Given the description of an element on the screen output the (x, y) to click on. 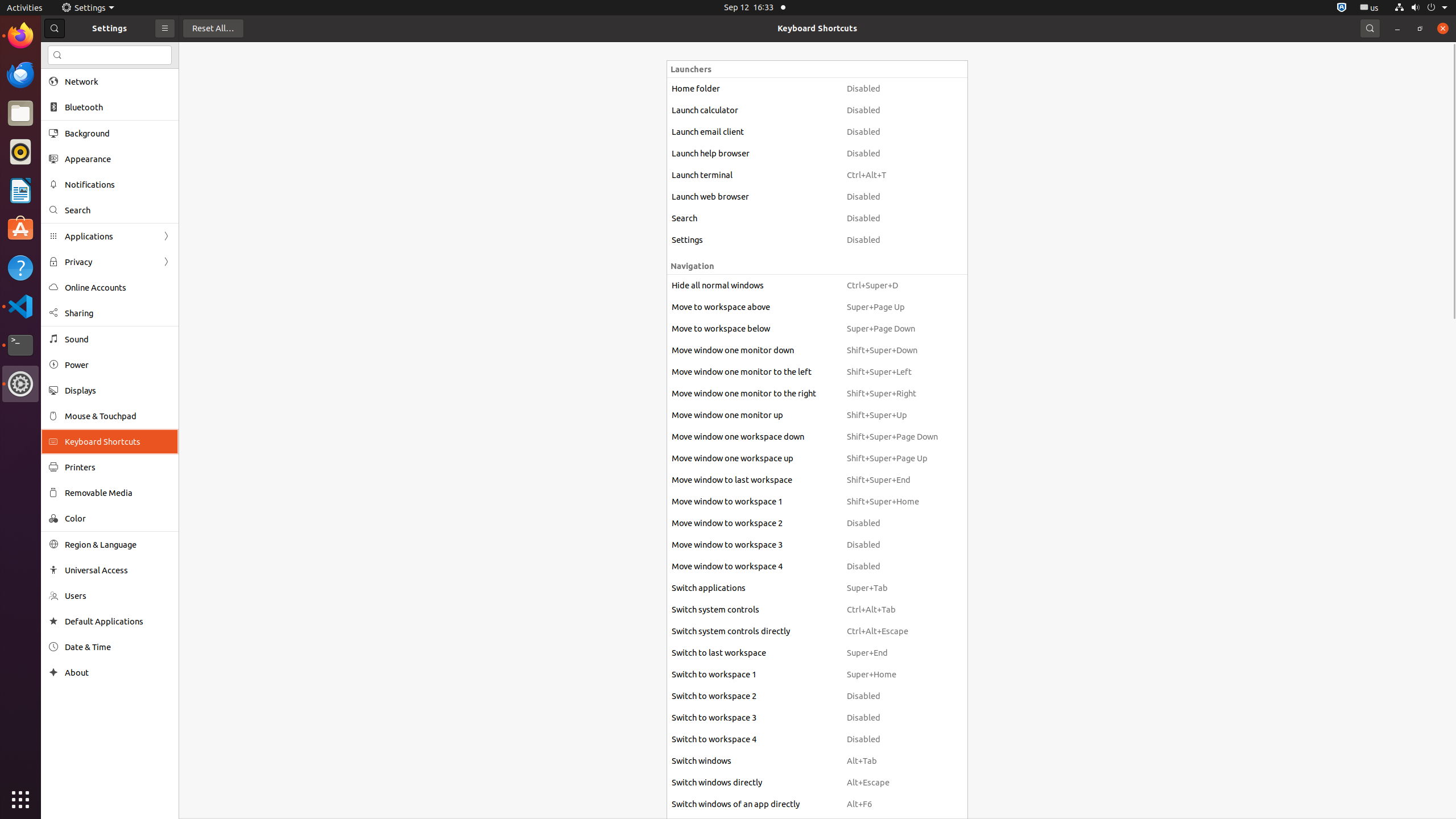
Settings Element type: menu (87, 7)
Move window to workspace 4 Element type: label (753, 566)
Launch web browser Element type: label (753, 196)
Shift+Super+Down Element type: label (891, 349)
Settings Element type: push-button (20, 383)
